Given the description of an element on the screen output the (x, y) to click on. 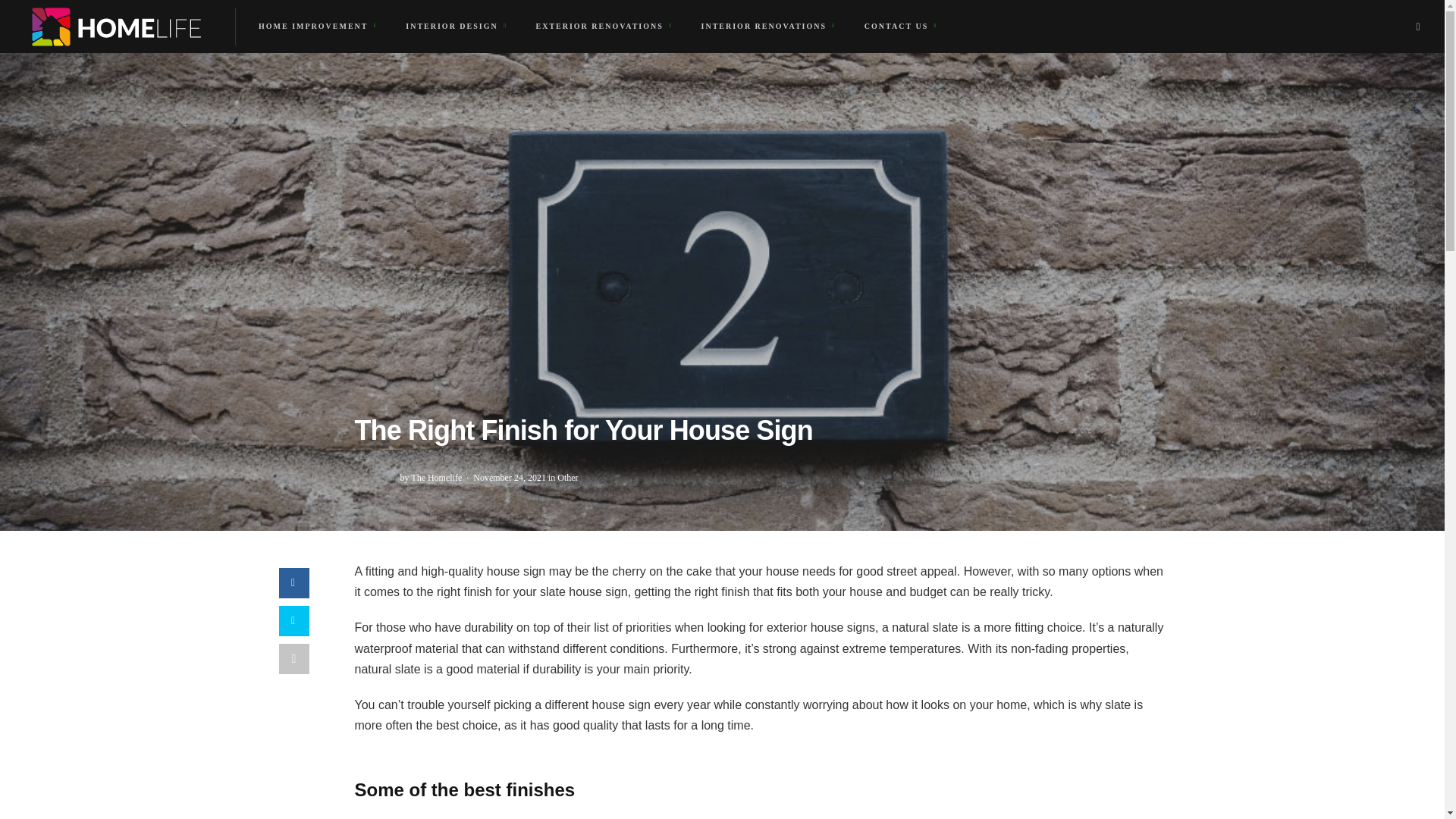
Posts by The Homelife (435, 477)
Share this (293, 583)
View all posts in Other (567, 477)
HOME IMPROVEMENT (317, 26)
Tweet (293, 621)
